Given the description of an element on the screen output the (x, y) to click on. 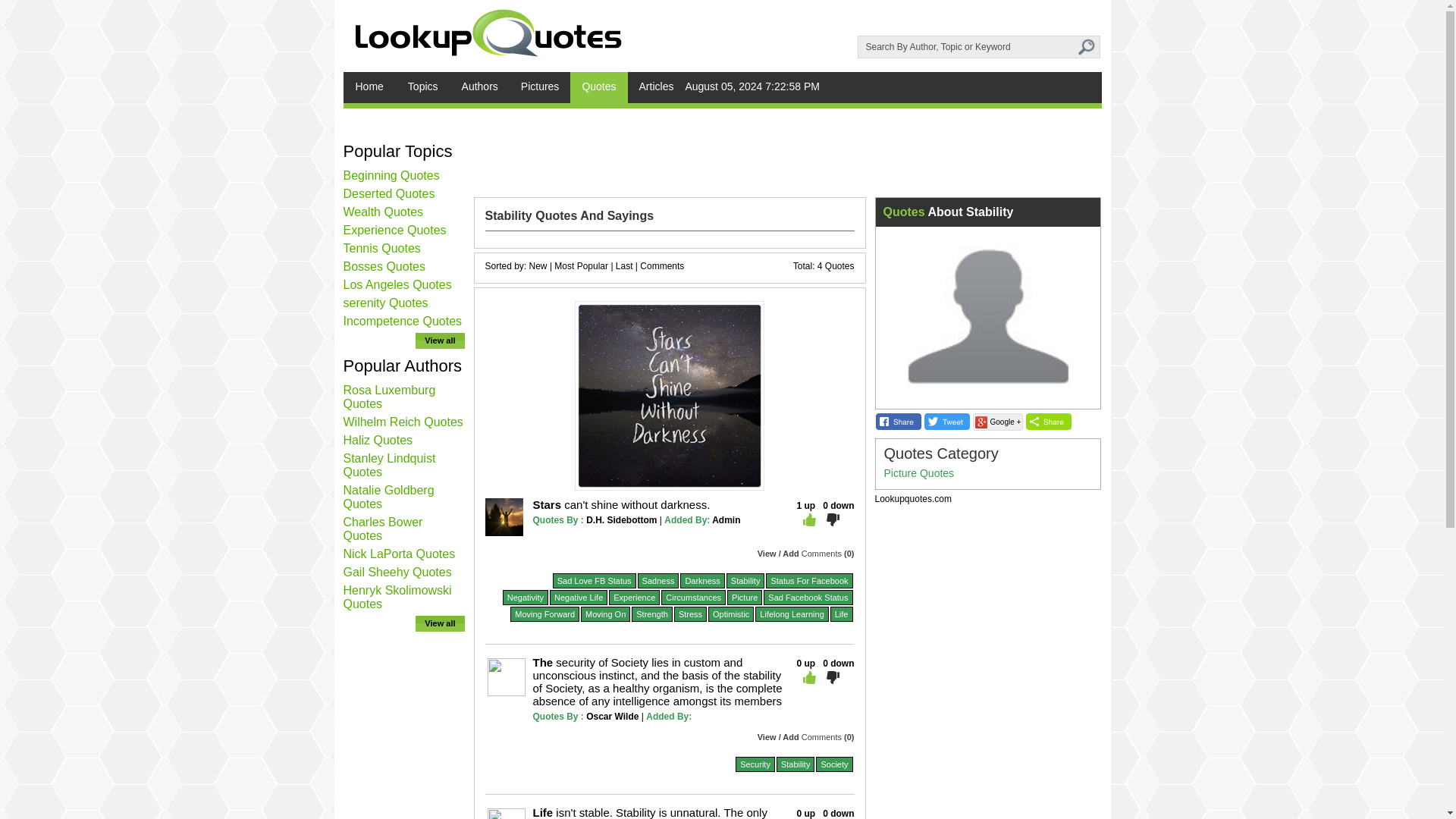
New (538, 266)
Home (368, 87)
Experience Quotes (393, 229)
Wealth Quotes (382, 211)
Charles Bower Quotes (382, 528)
serenity Quotes (385, 302)
Wilhelm Reich Quotes (402, 421)
Haliz Quotes (377, 440)
Most Popular (581, 266)
Los Angeles Quotes (396, 284)
Search By Author, Topic or Keyword (967, 47)
Rosa Luxemburg Quotes (388, 397)
Nick LaPorta Quotes (398, 553)
Stanley Lindquist Quotes (388, 465)
Quotes (598, 87)
